Given the description of an element on the screen output the (x, y) to click on. 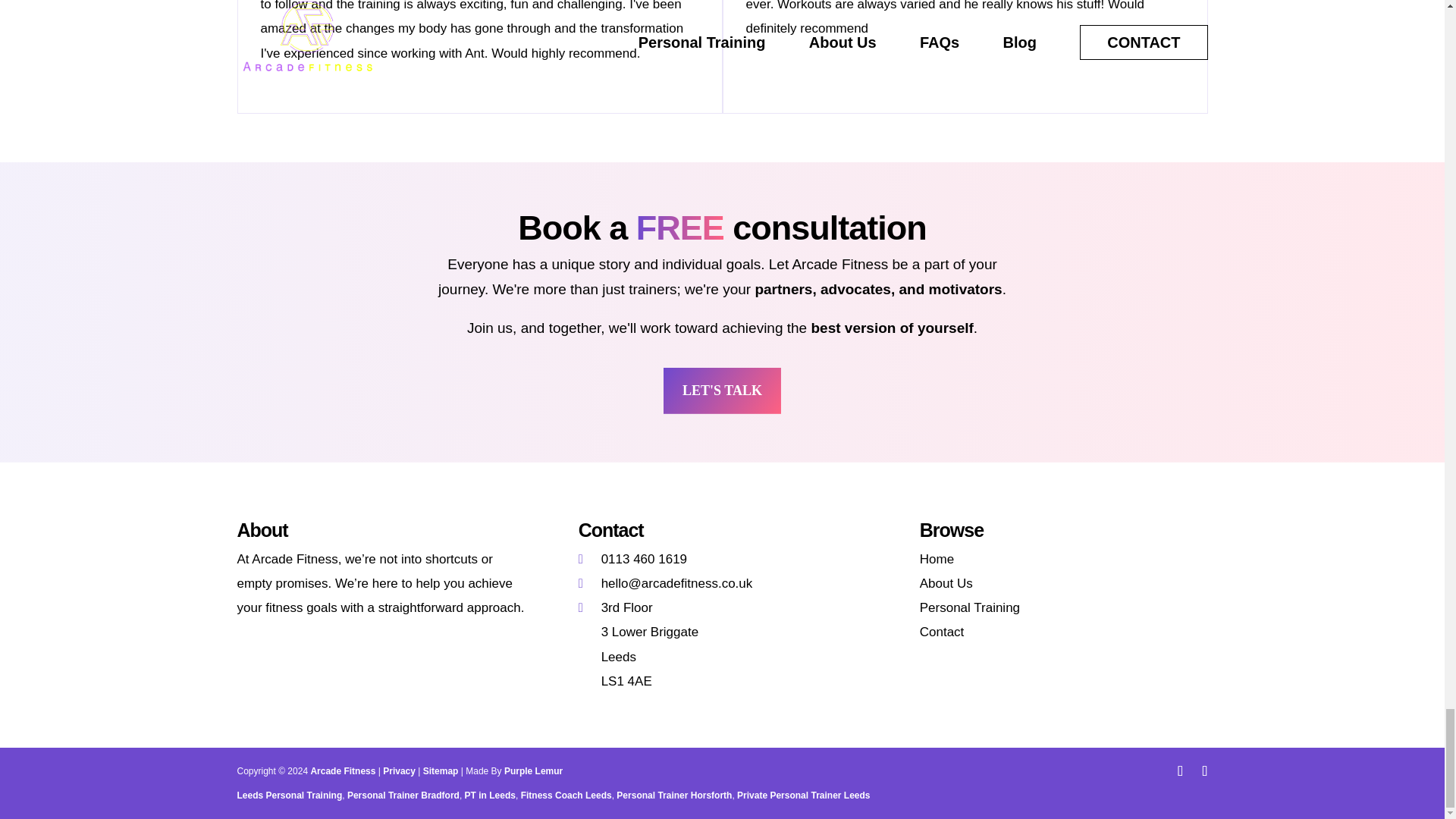
Home (936, 559)
About Us (946, 583)
LET'S TALK (721, 390)
0113 460 1619 (632, 559)
